Given the description of an element on the screen output the (x, y) to click on. 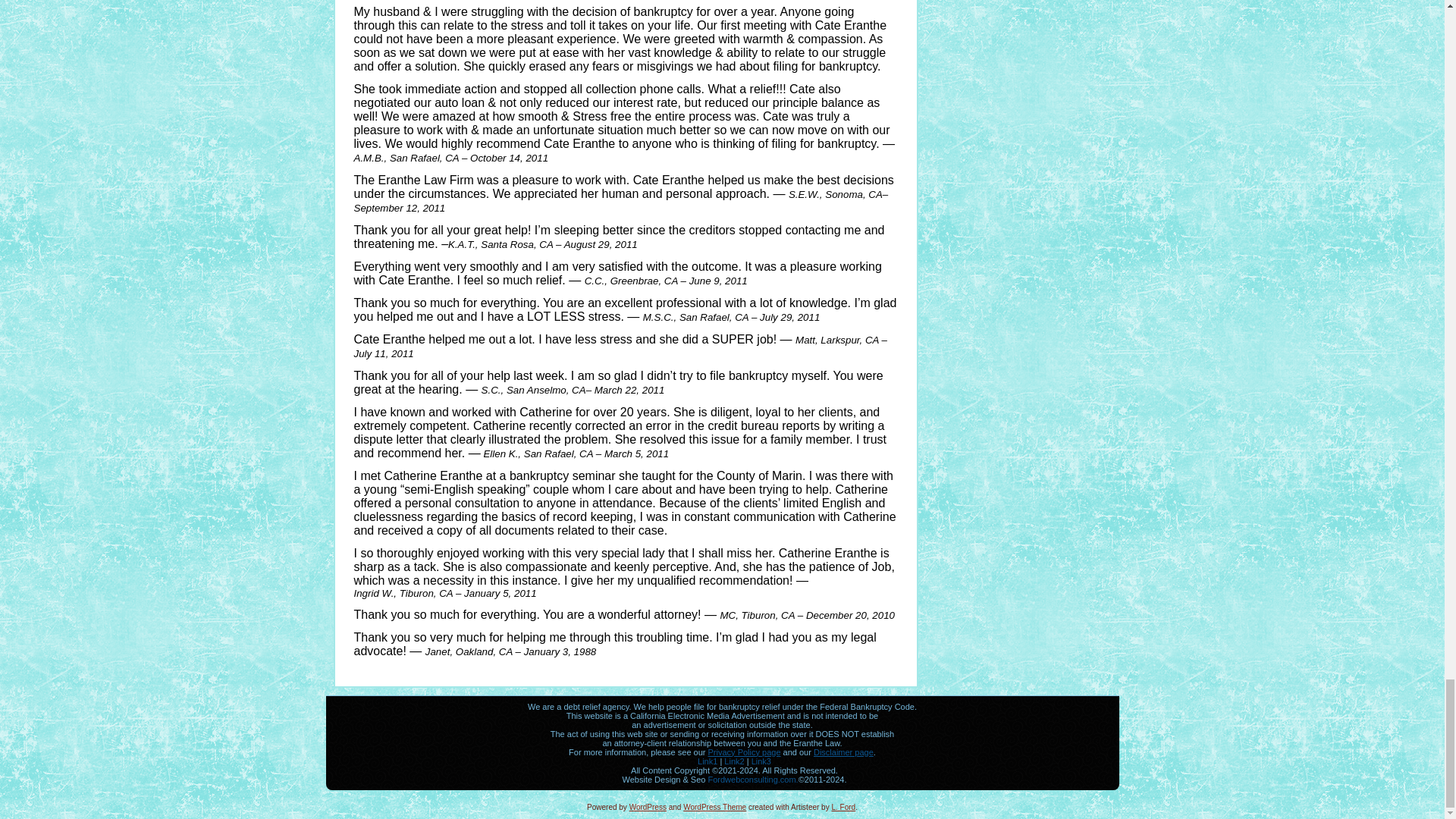
Disclaimer page (843, 751)
Link1 (707, 760)
Link2 (733, 760)
Privacy Policy page (743, 751)
